Given the description of an element on the screen output the (x, y) to click on. 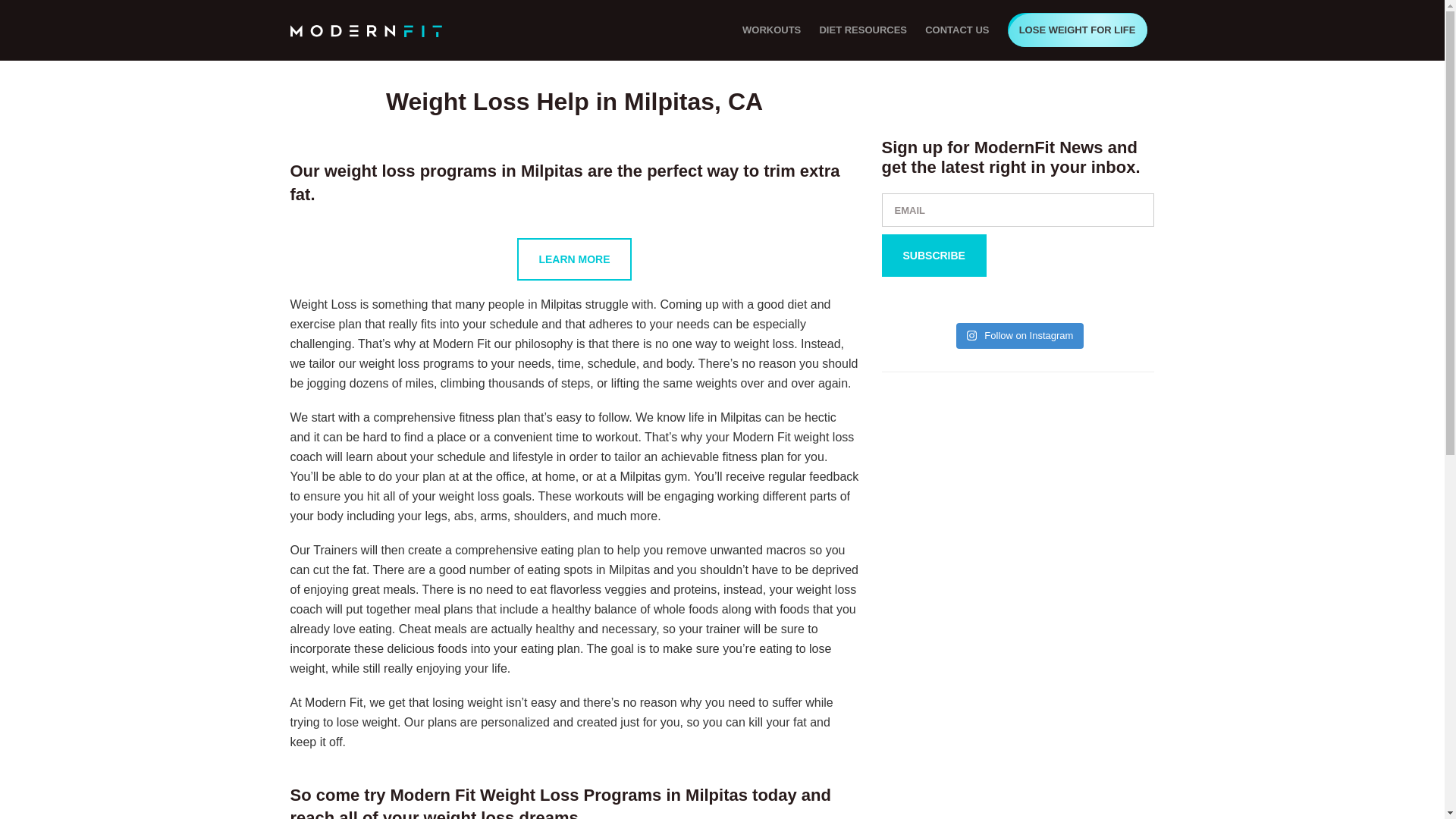
WORKOUTS (771, 30)
Follow on Instagram (1020, 335)
Subscribe (932, 255)
LOSE WEIGHT FOR LIFE (1077, 30)
LEARN MORE (573, 259)
Subscribe (932, 255)
DIET RESOURCES (862, 30)
CONTACT US (956, 30)
